Given the description of an element on the screen output the (x, y) to click on. 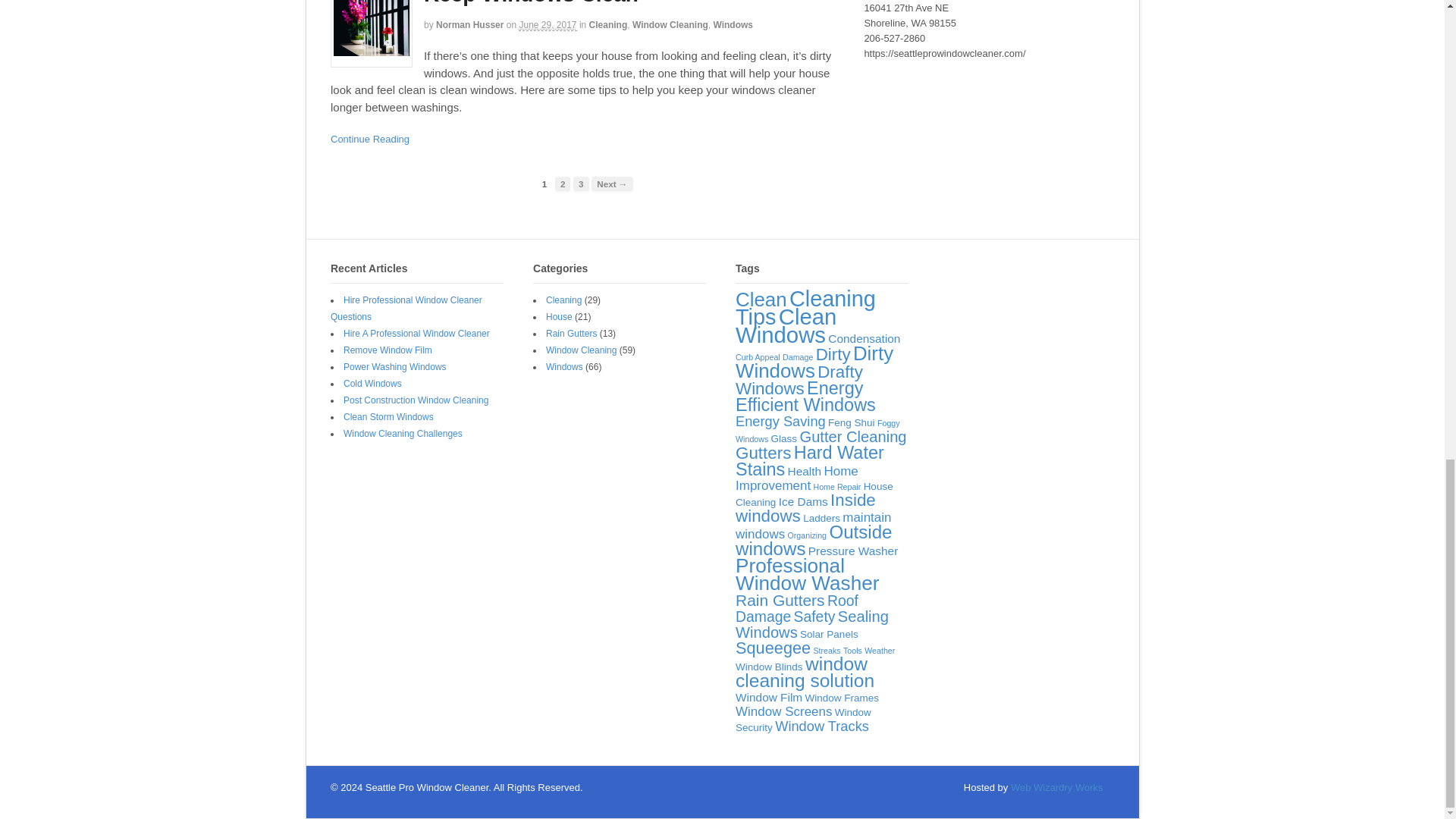
Continue Reading (369, 138)
2 (562, 183)
3 (581, 183)
Windows (732, 24)
Norman Husser (469, 24)
Keep Windows Clean (531, 2)
Cleaning (608, 24)
Window Cleaning (669, 24)
